Given the description of an element on the screen output the (x, y) to click on. 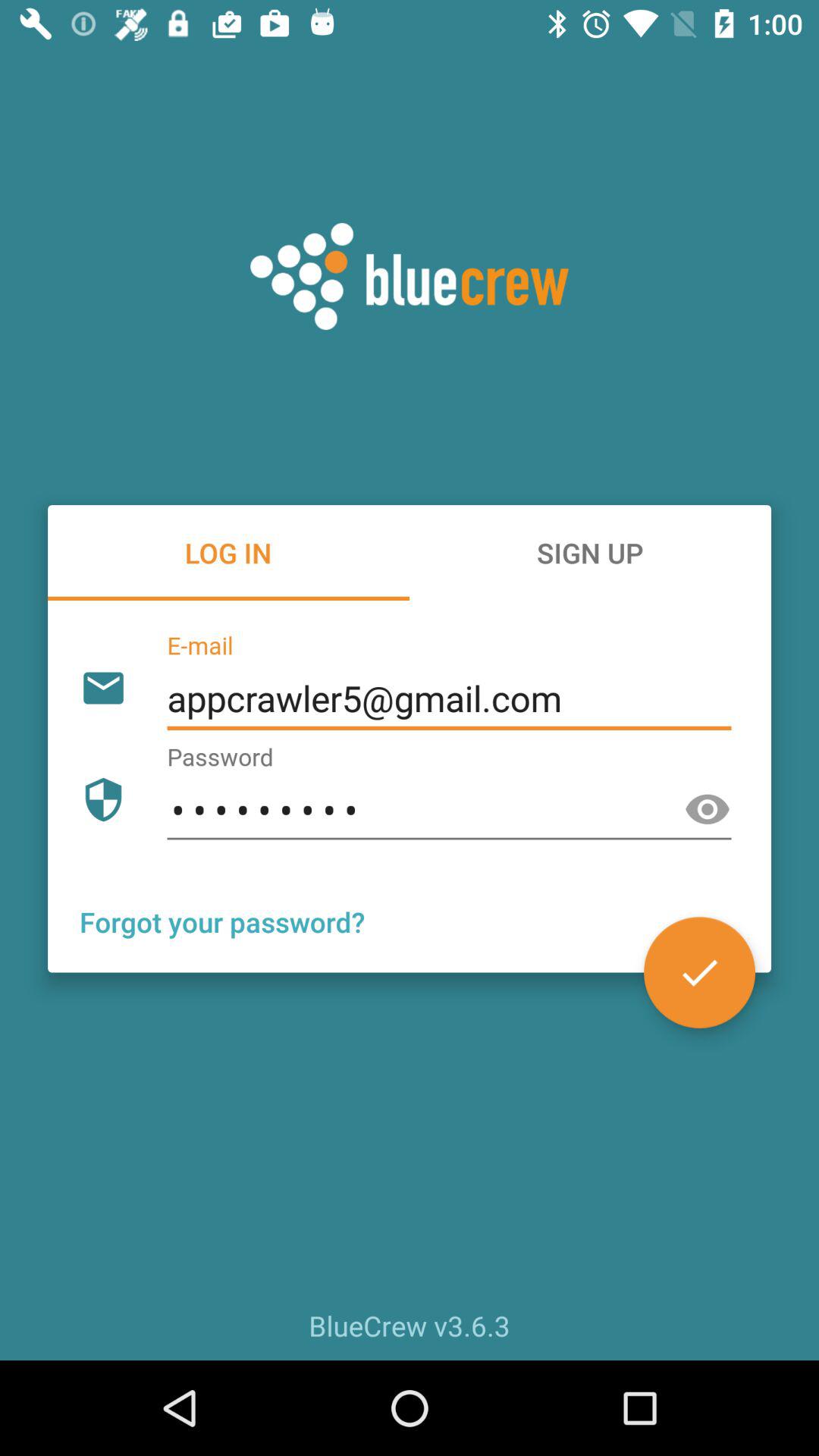
select the log in (228, 552)
select the second text box (448, 809)
choose the orange color circle (699, 972)
